Given the description of an element on the screen output the (x, y) to click on. 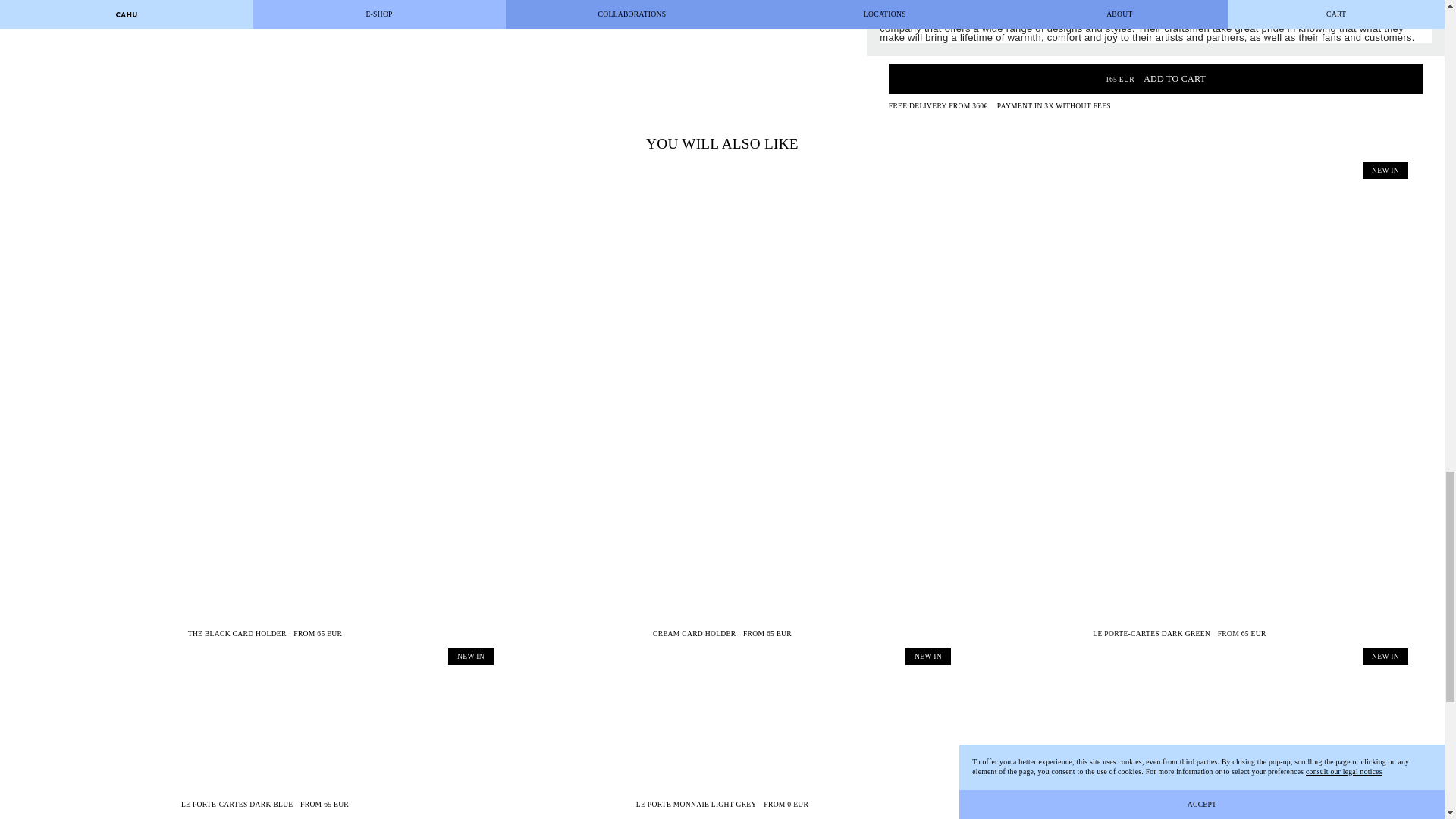
Plaid CAHU Enjoy (433, 63)
